Given the description of an element on the screen output the (x, y) to click on. 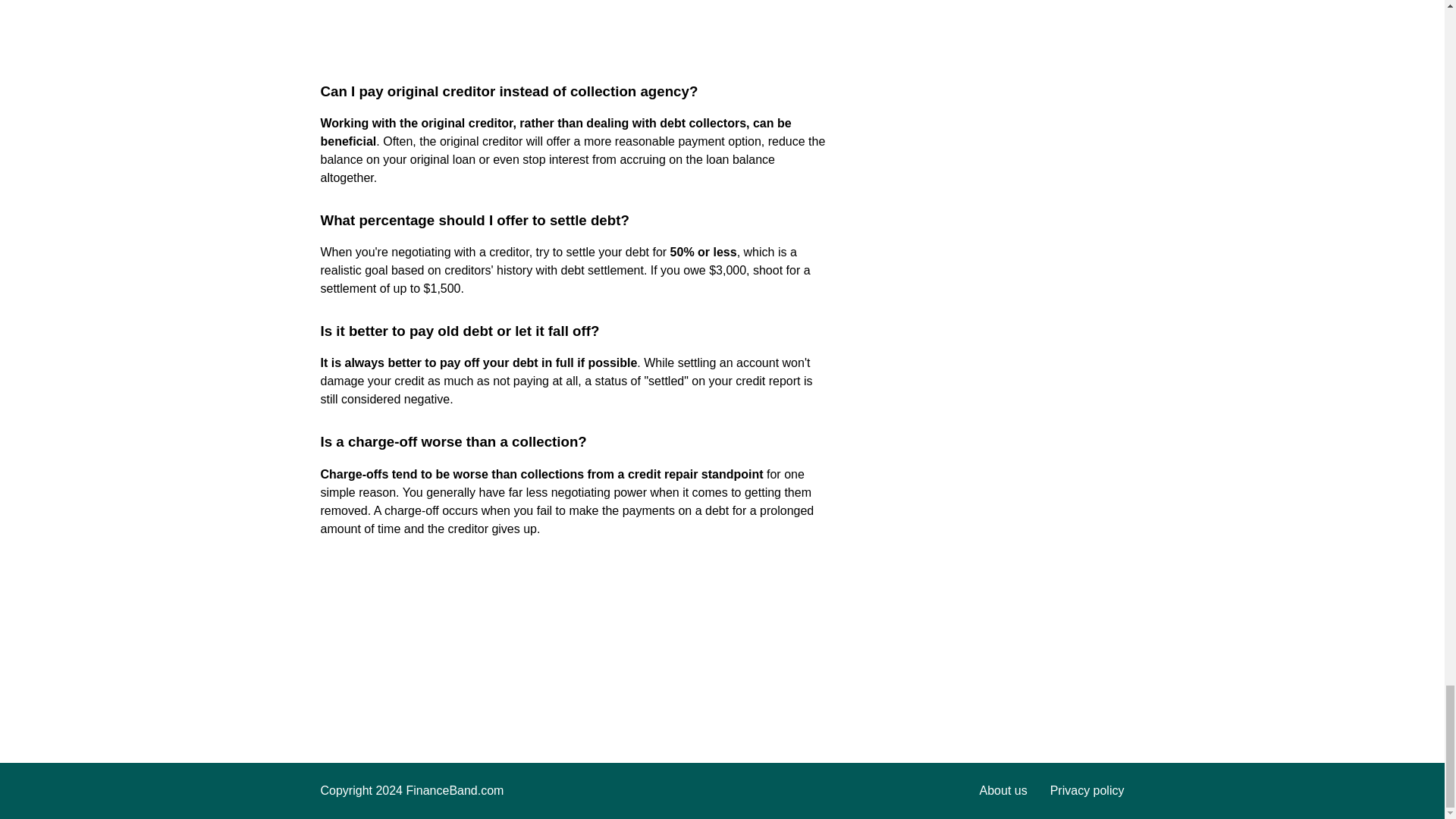
About us (1003, 790)
